Given the description of an element on the screen output the (x, y) to click on. 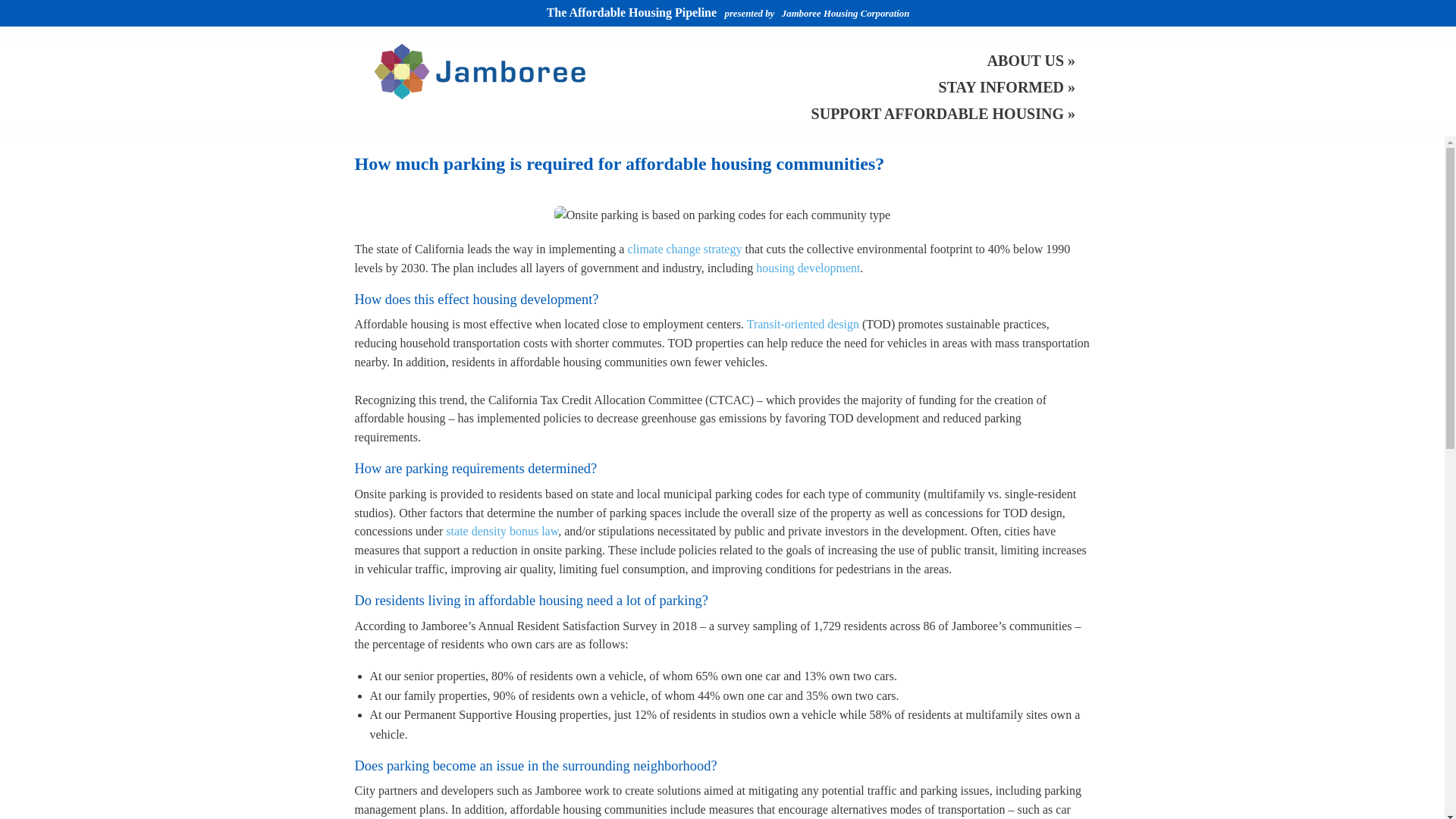
state density bonus law (501, 530)
Jamboree Housing Corporation (845, 11)
The Affordable Housing Pipeline (633, 11)
housing development (807, 267)
climate change strategy (684, 248)
California Affordable Housing Development Pipeline (633, 11)
Transit-oriented design (802, 323)
Jamboree Housing Corporation (479, 69)
